Given the description of an element on the screen output the (x, y) to click on. 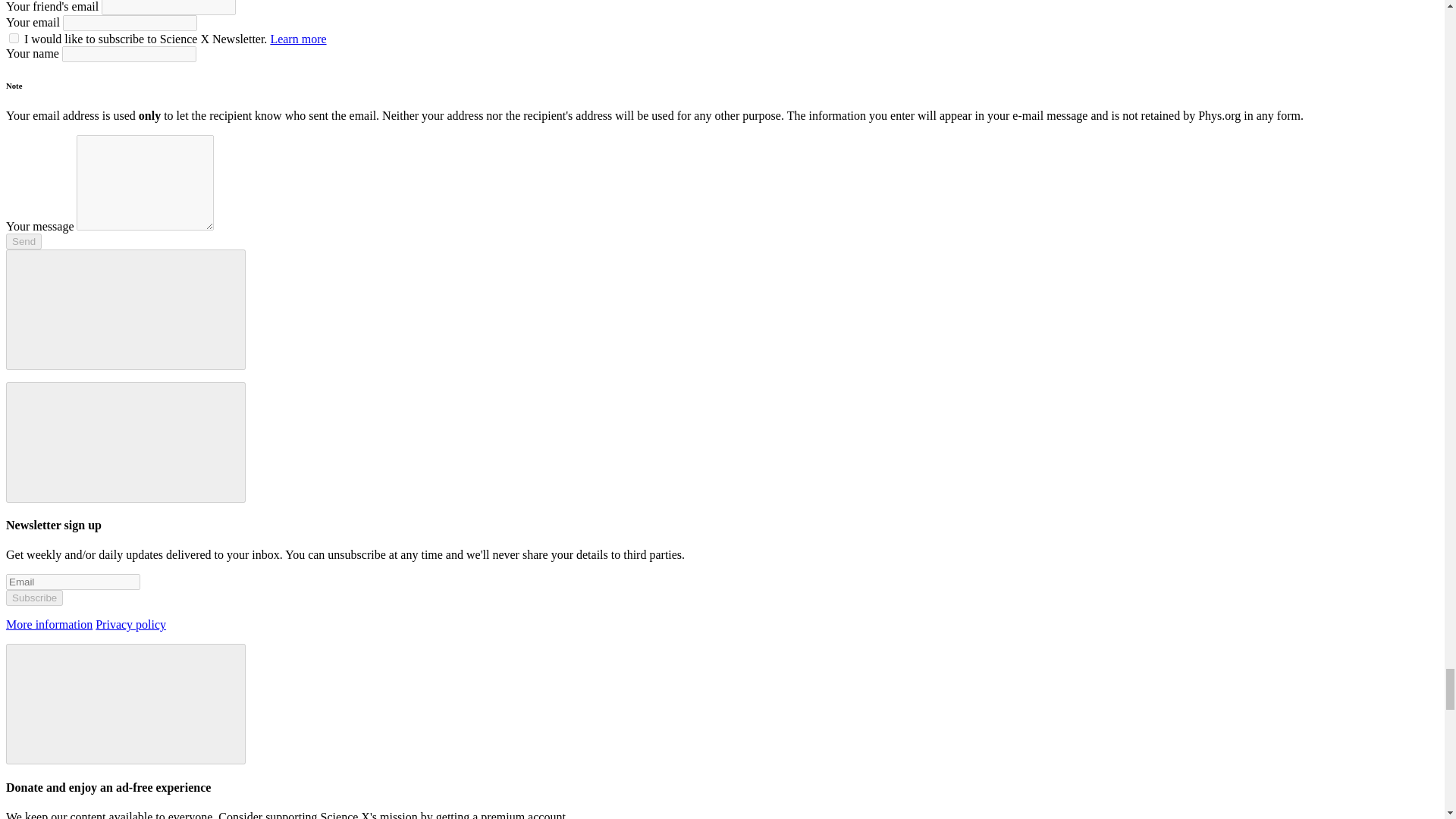
1 (13, 38)
